Given the description of an element on the screen output the (x, y) to click on. 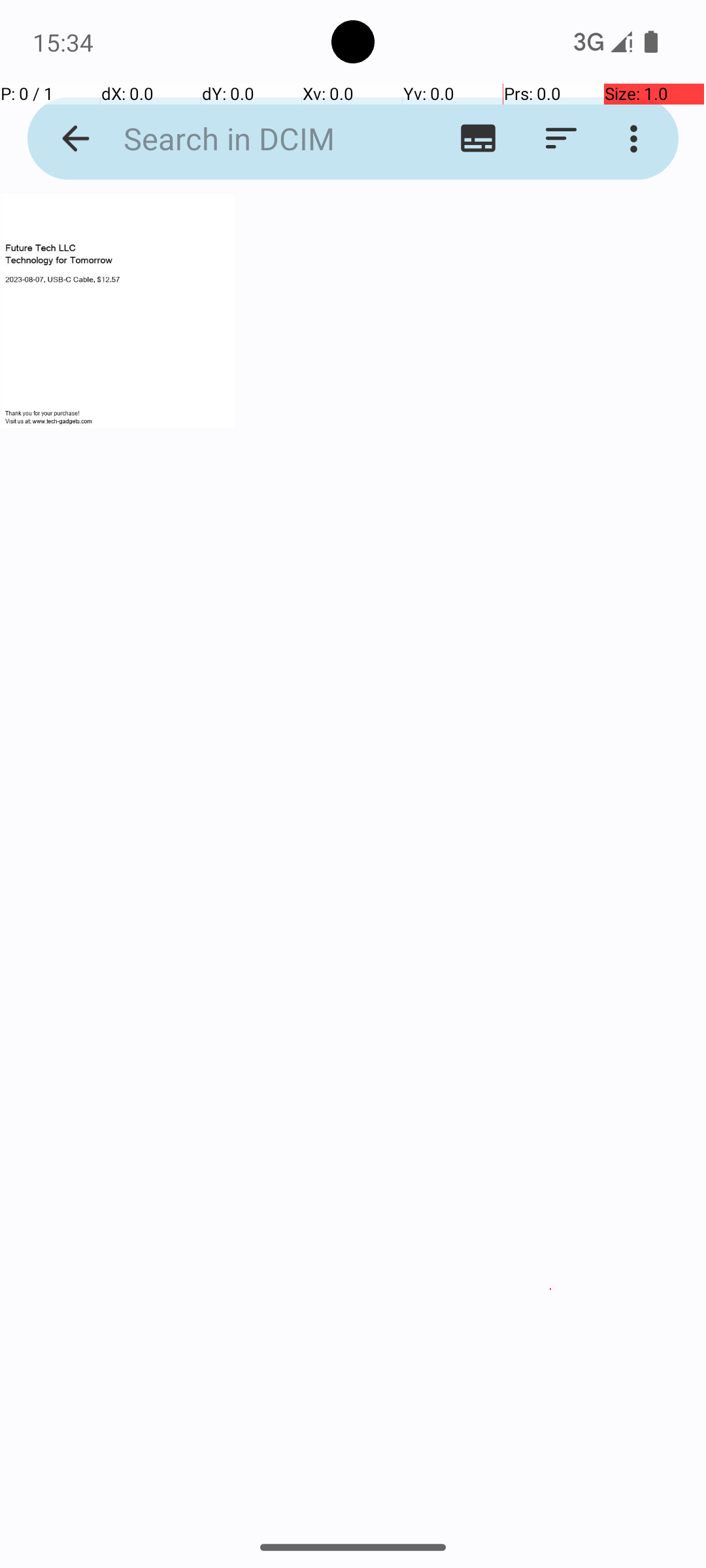
Search in DCIM Element type: android.widget.EditText (252, 138)
Toggle filename visibility Element type: android.widget.Button (477, 138)
